Given the description of an element on the screen output the (x, y) to click on. 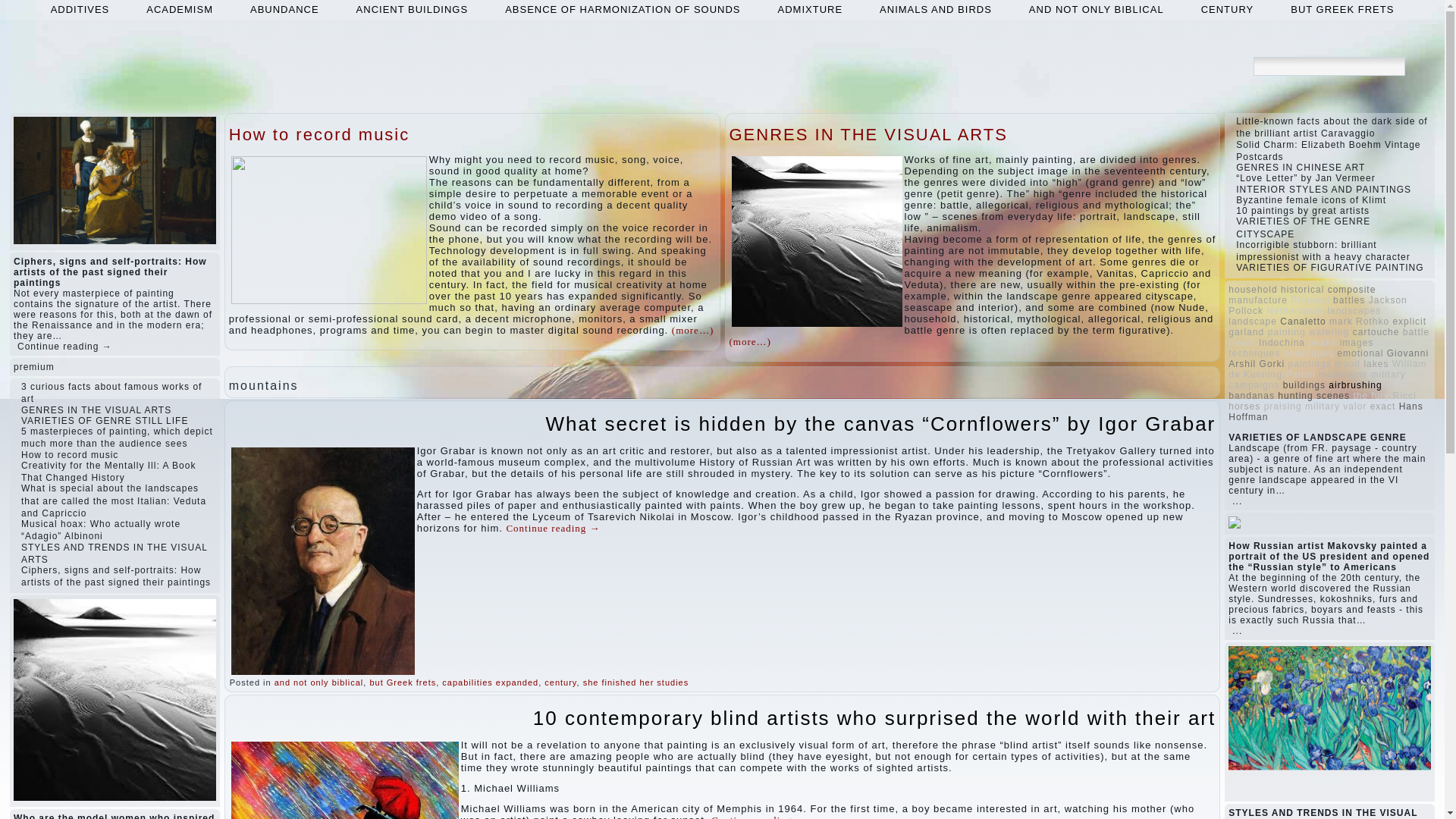
capabilities expanded (490, 682)
How to record music (319, 134)
but Greek frets (402, 682)
abundance (284, 9)
ANIMALS AND BIRDS (936, 9)
BUT GREEK FRETS (1342, 9)
century (560, 682)
and not only biblical (1095, 9)
animals and birds (936, 9)
VARIETIES OF GENRE STILL LIFE (104, 420)
ADDITIVES (79, 9)
CENTURY (1228, 9)
